Given the description of an element on the screen output the (x, y) to click on. 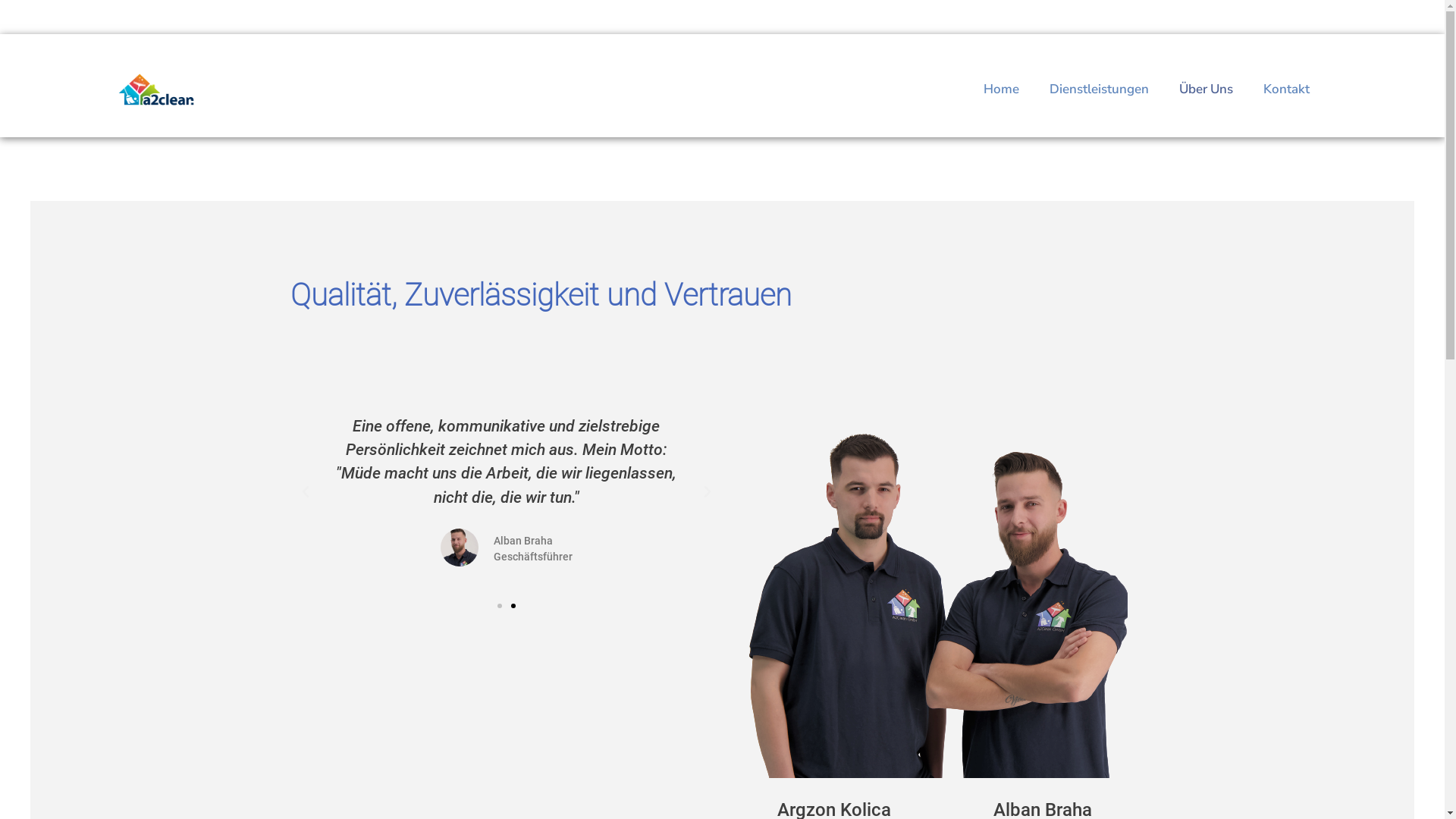
Dienstleistungen Element type: text (1099, 89)
Kontakt Element type: text (1286, 89)
Home Element type: text (1001, 89)
